Given the description of an element on the screen output the (x, y) to click on. 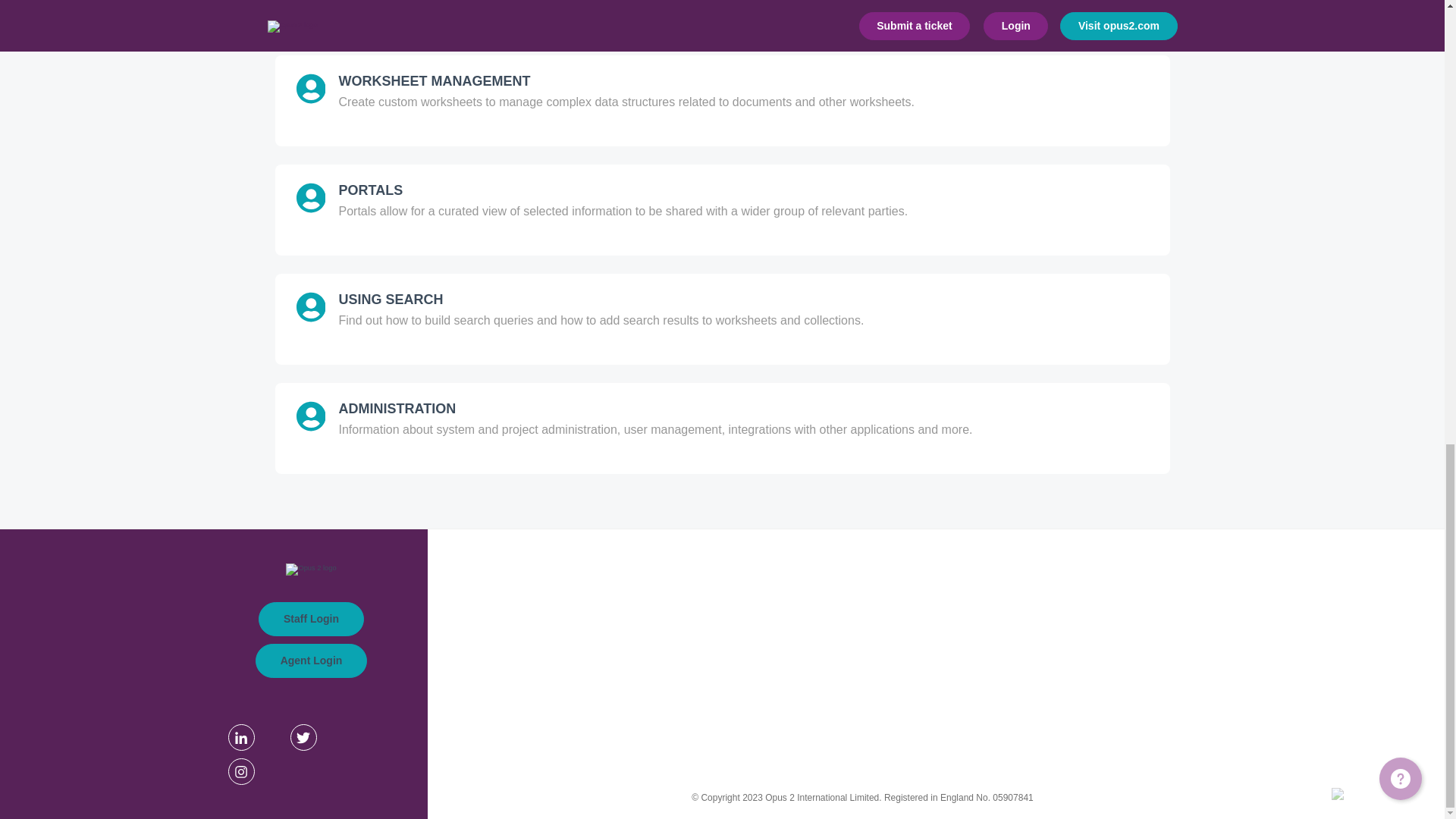
Agent Login (312, 660)
Opus 2 logo (310, 569)
Staff Login (311, 618)
